Given the description of an element on the screen output the (x, y) to click on. 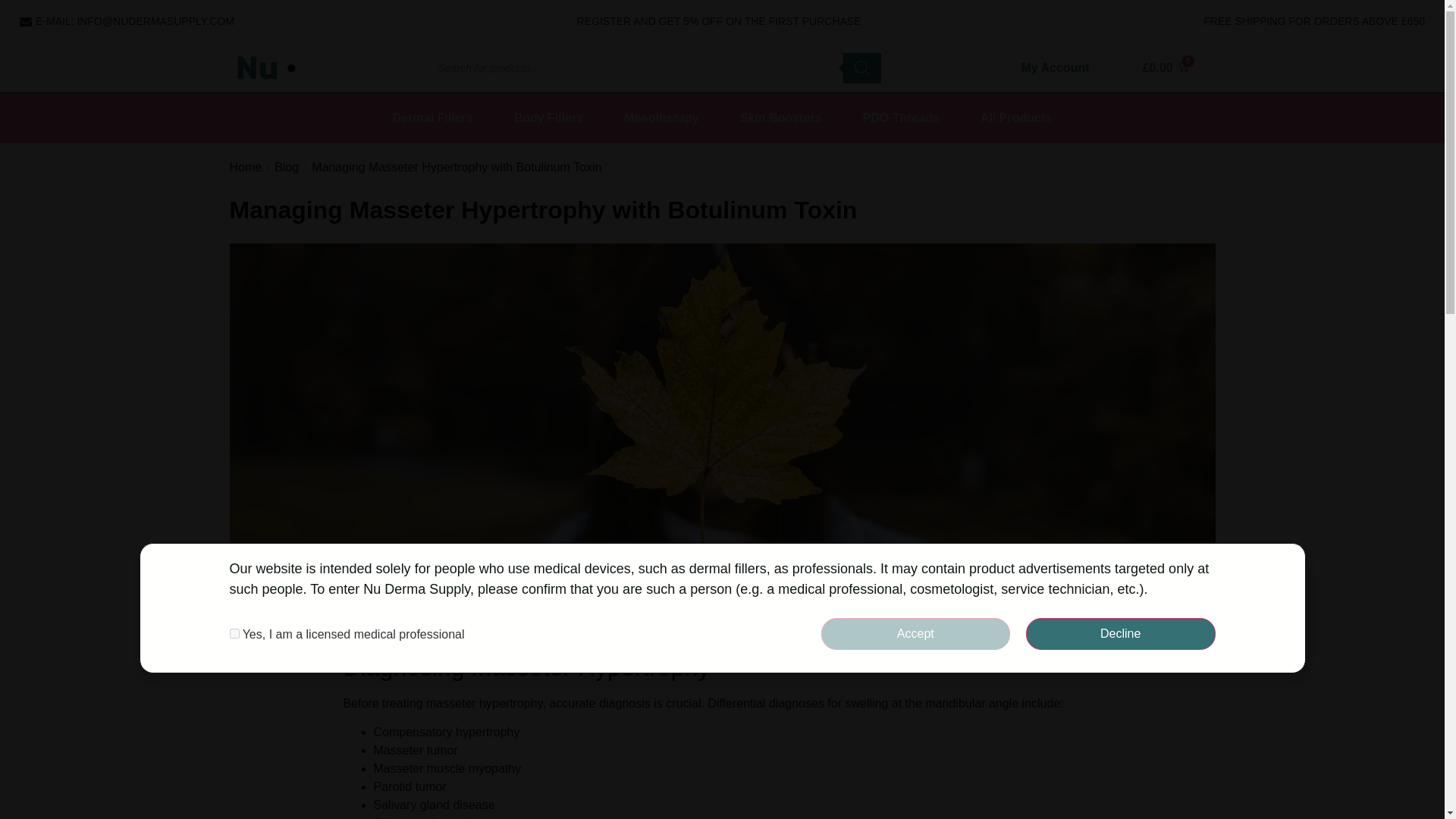
All Products (1016, 117)
My Account (1054, 66)
Skin Boosters (781, 117)
PDO Threads (901, 117)
Mesotherapy (661, 117)
on (233, 633)
Dermal Fillers (432, 117)
Body Fillers (548, 117)
